Given the description of an element on the screen output the (x, y) to click on. 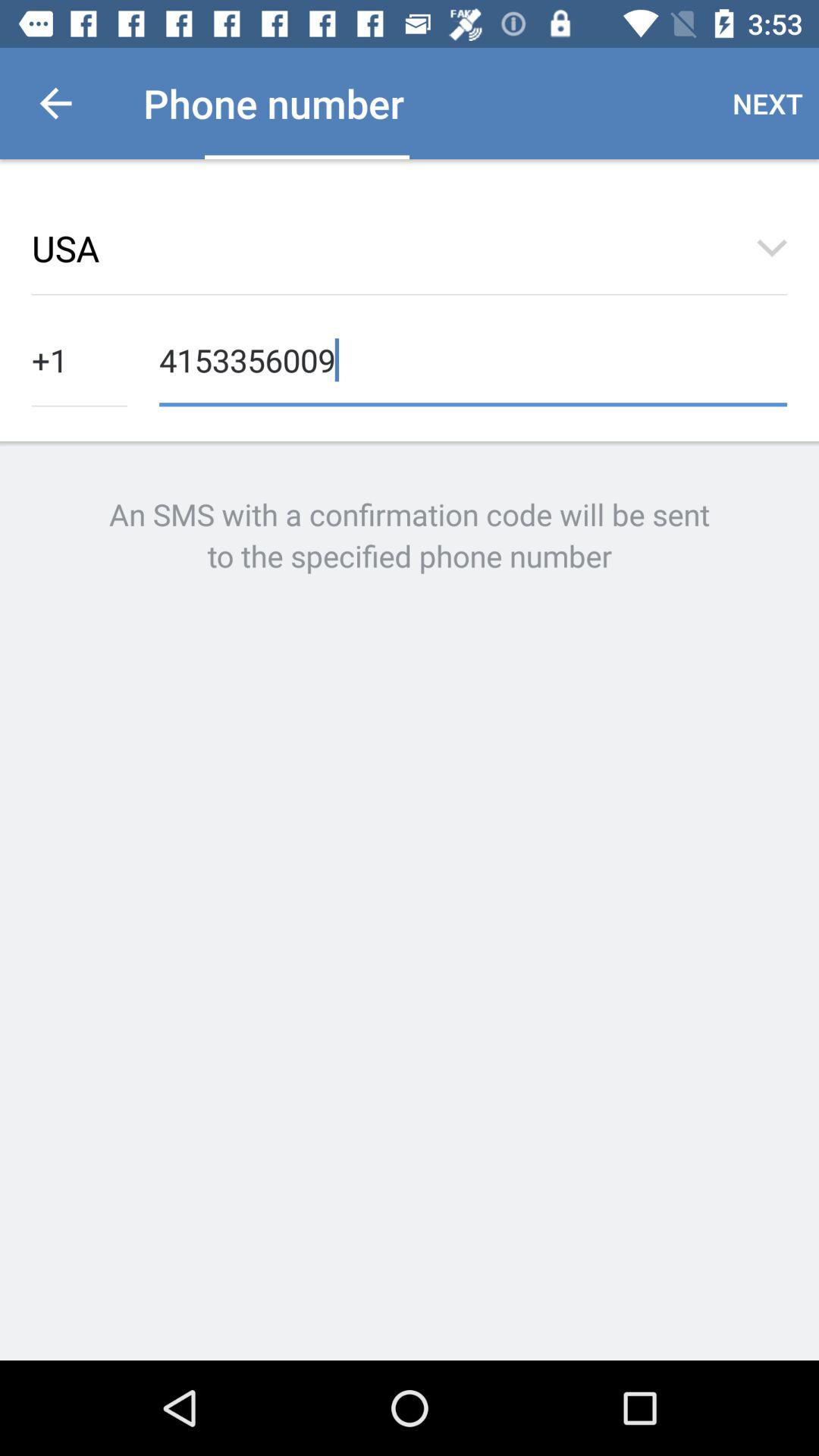
jump to next item (767, 103)
